Given the description of an element on the screen output the (x, y) to click on. 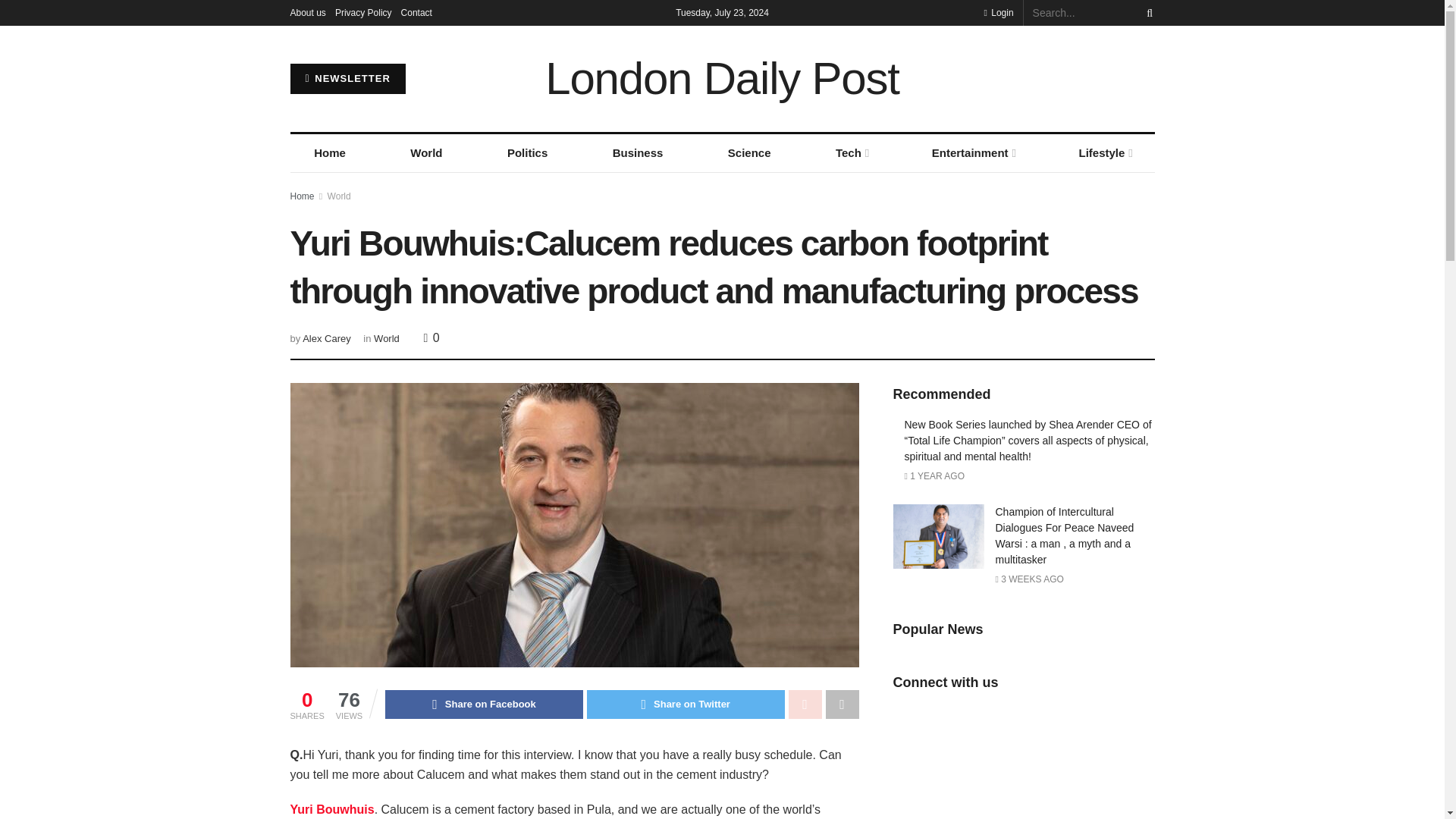
Contact (416, 12)
World (427, 152)
Politics (527, 152)
Login (998, 12)
About us (306, 12)
Home (329, 152)
NEWSLETTER (346, 78)
Privacy Policy (362, 12)
Tech (850, 152)
London Daily Post (721, 78)
Business (637, 152)
Entertainment (972, 152)
Science (748, 152)
